Given the description of an element on the screen output the (x, y) to click on. 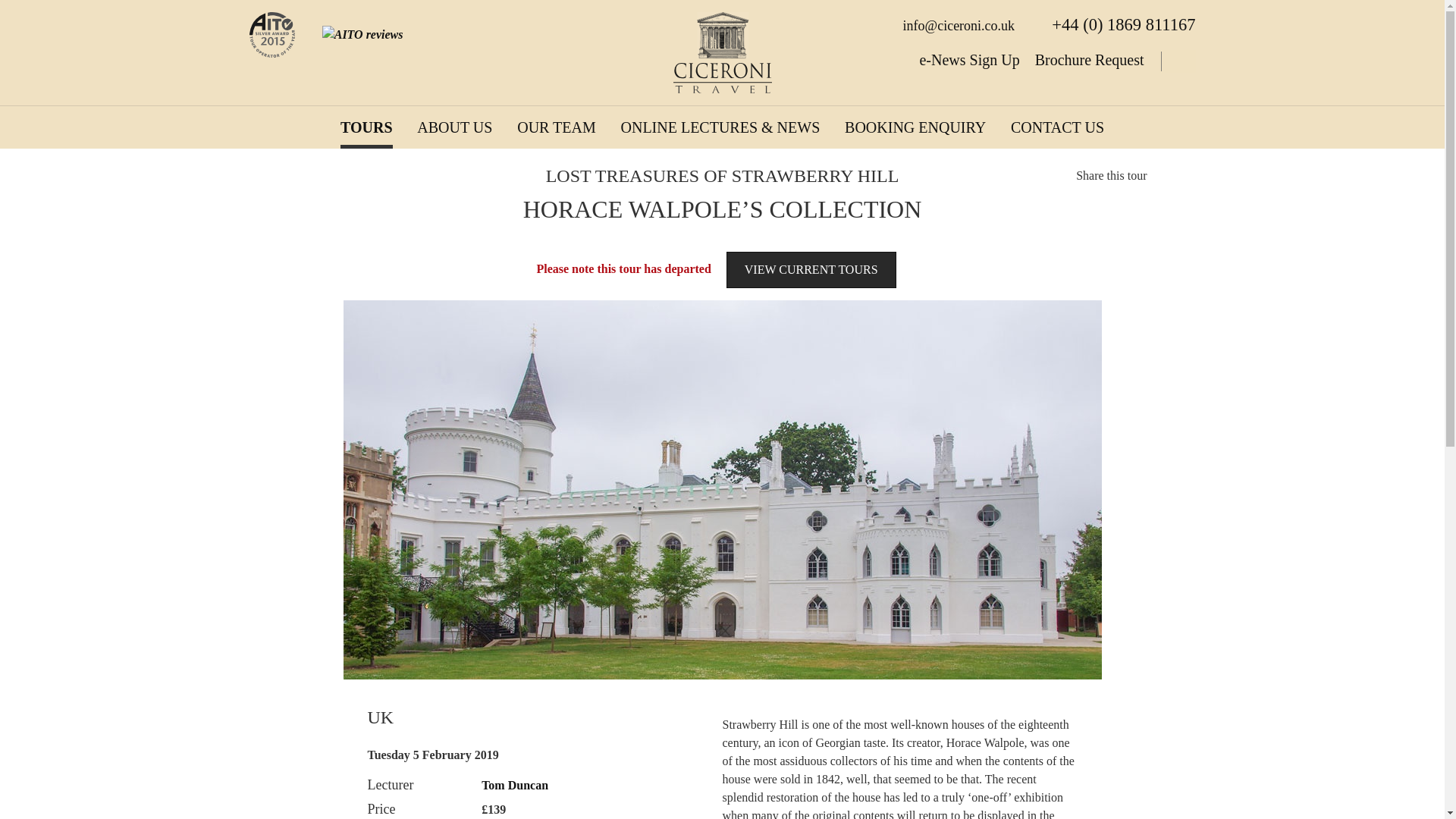
BOOKING ENQUIRY (914, 127)
ABOUT US (454, 127)
CONTACT US (1056, 127)
OUR TEAM (555, 127)
Tom Duncan (514, 784)
Search (1176, 61)
Ciceroni Travel (721, 53)
Brochure Request (1089, 59)
VIEW CURRENT TOURS (811, 269)
e-News Sign Up (968, 59)
